Given the description of an element on the screen output the (x, y) to click on. 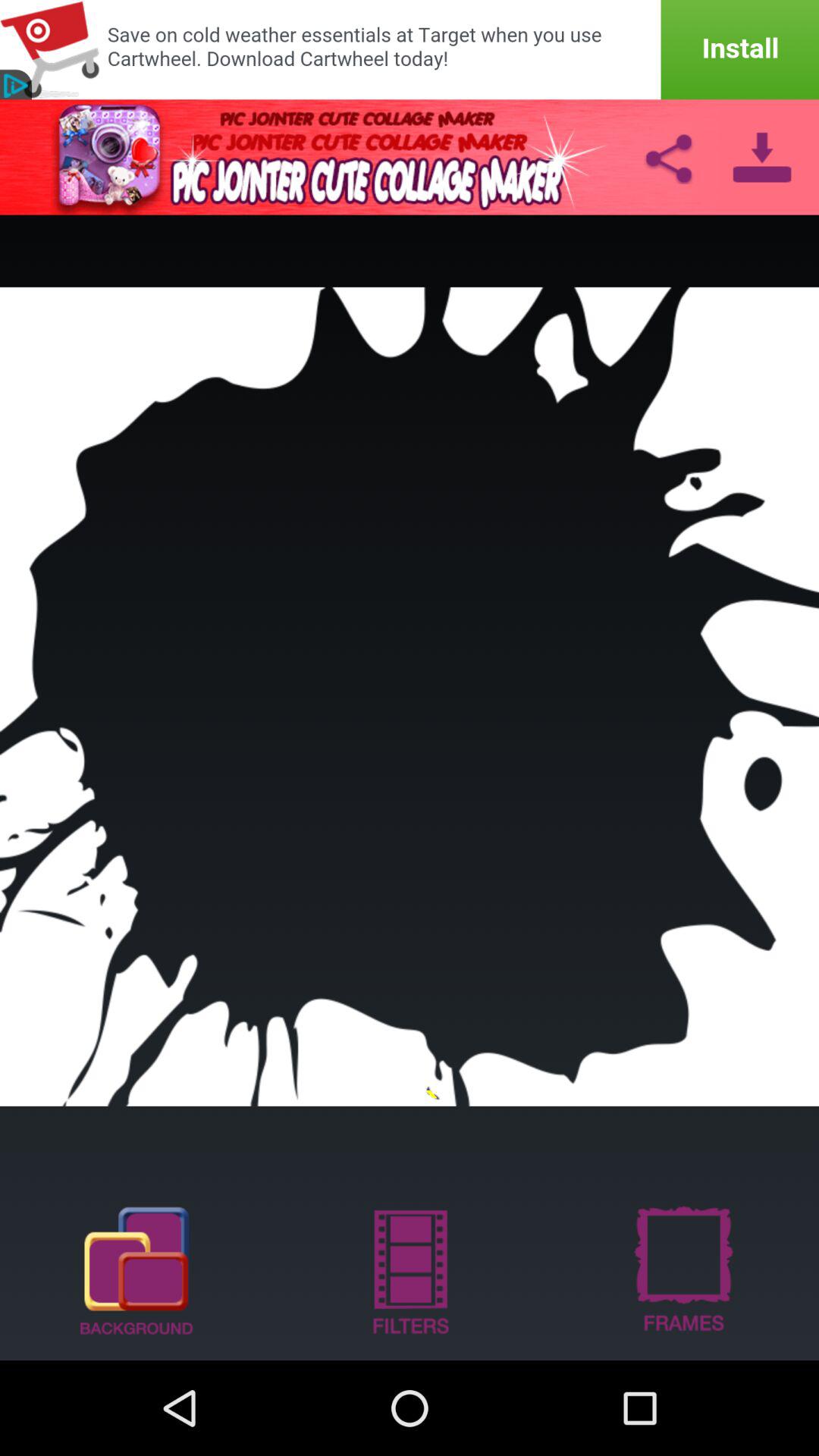
install app in advertisement (409, 49)
